Given the description of an element on the screen output the (x, y) to click on. 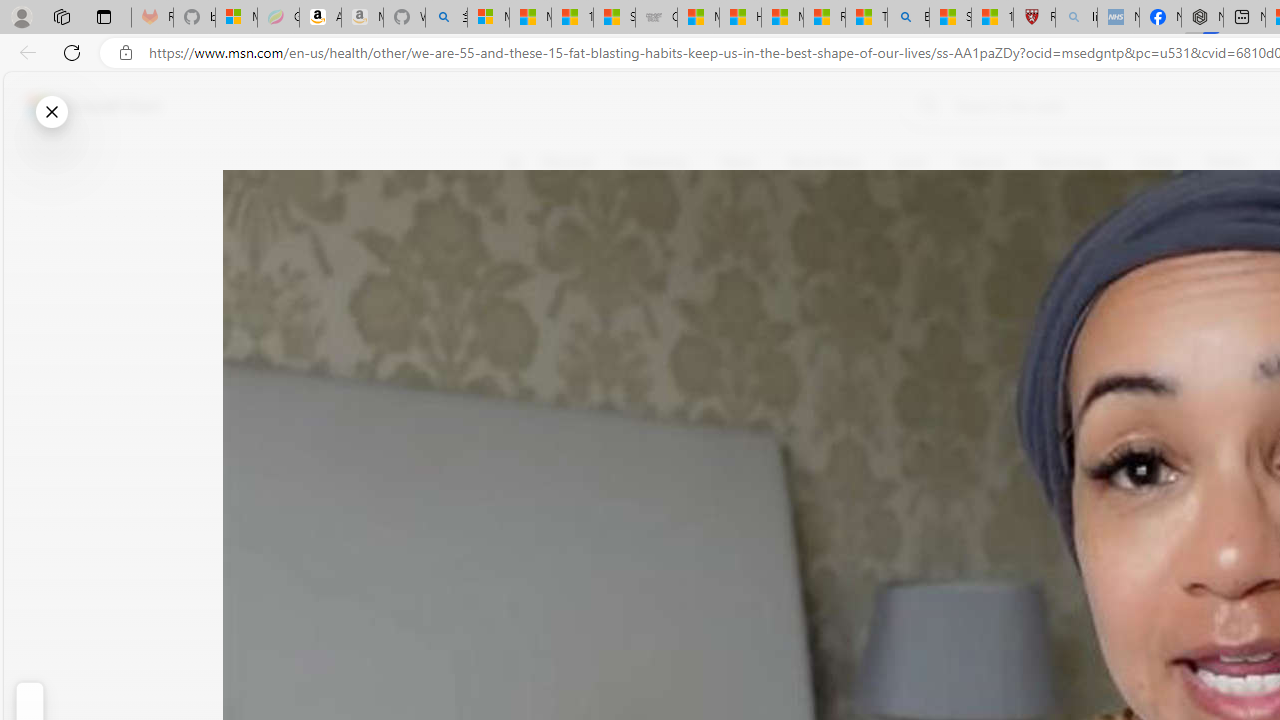
Politics (1227, 162)
Bing (908, 17)
Class: at-item (525, 468)
Stocks - MSN (613, 17)
Share this story (525, 412)
